Given the description of an element on the screen output the (x, y) to click on. 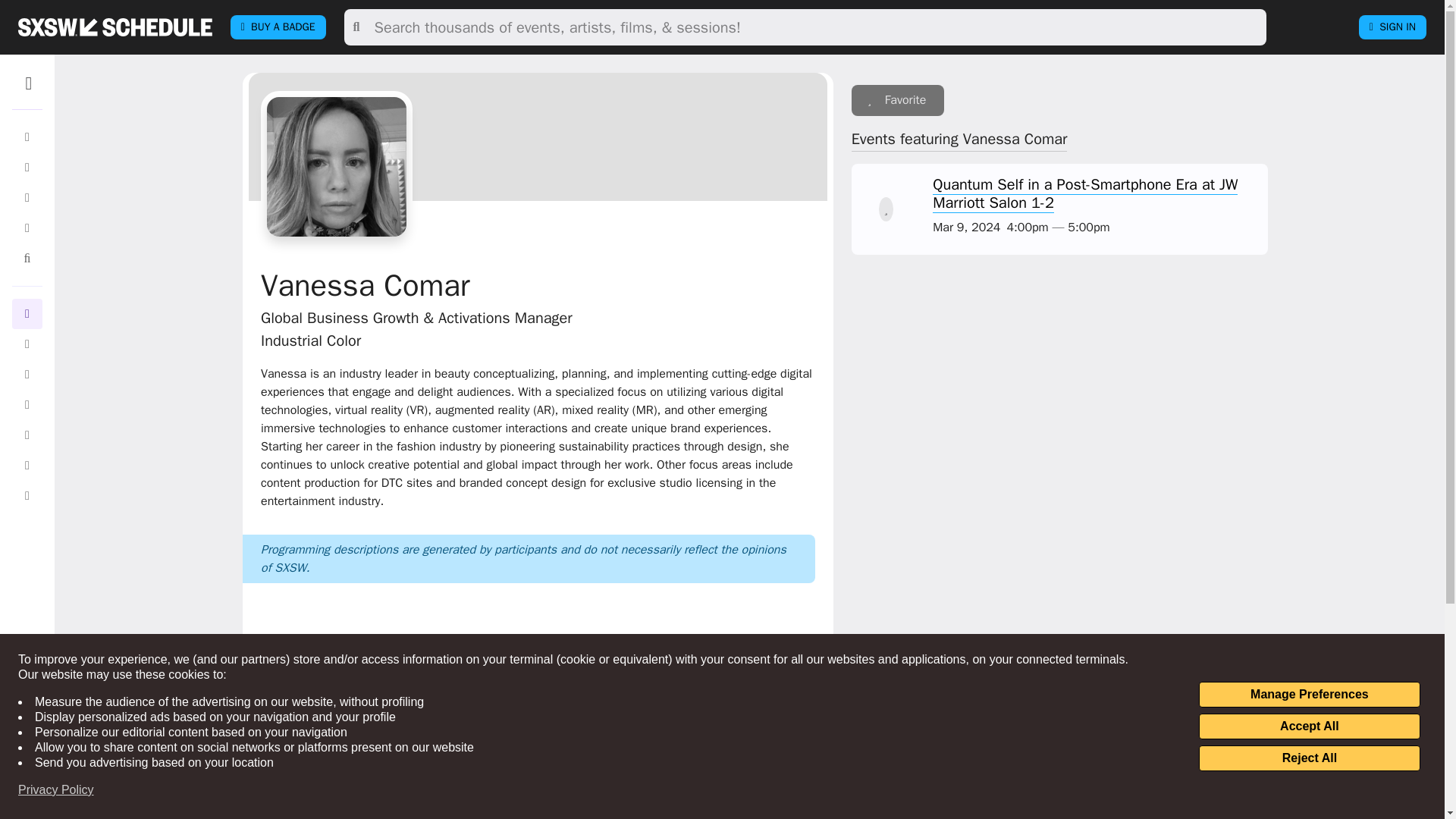
Reject All (1309, 758)
Manage Preferences (1309, 694)
Sign In to add to your favorites. (897, 100)
BUY A BADGE (278, 27)
sxsw SCHEDULE (114, 27)
SIGN IN (1392, 27)
Privacy Policy (55, 789)
Accept All (1309, 726)
